Given the description of an element on the screen output the (x, y) to click on. 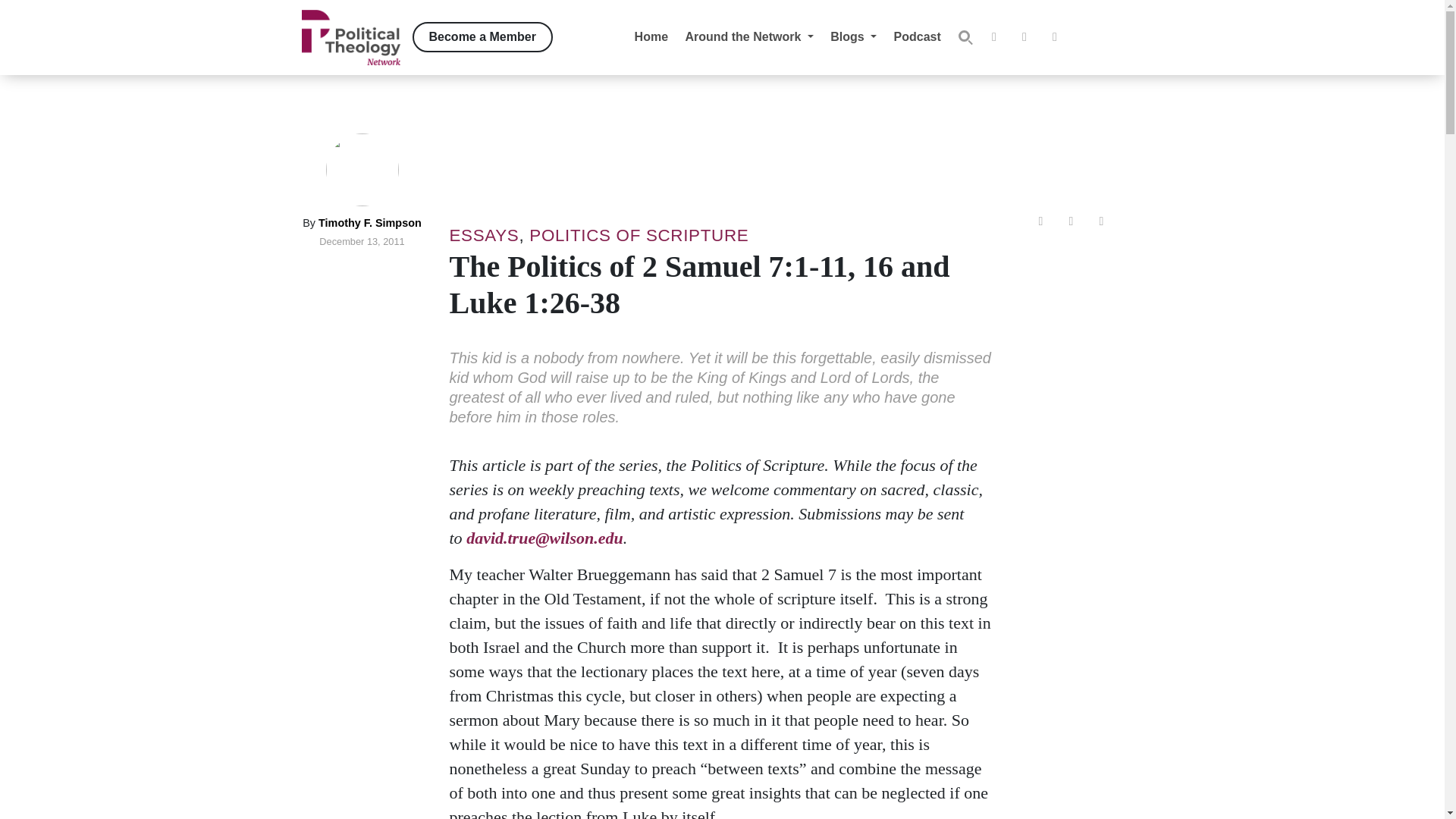
Timothy F. Simpson (370, 223)
Submit (965, 37)
POLITICS OF SCRIPTURE (638, 235)
Become a Member (482, 37)
Blogs (853, 36)
Blogs (853, 36)
Podcast (917, 36)
Podcast (917, 36)
ESSAYS (483, 235)
Around the Network (749, 36)
Home (651, 36)
Around the Network (749, 36)
Home (651, 36)
